Given the description of an element on the screen output the (x, y) to click on. 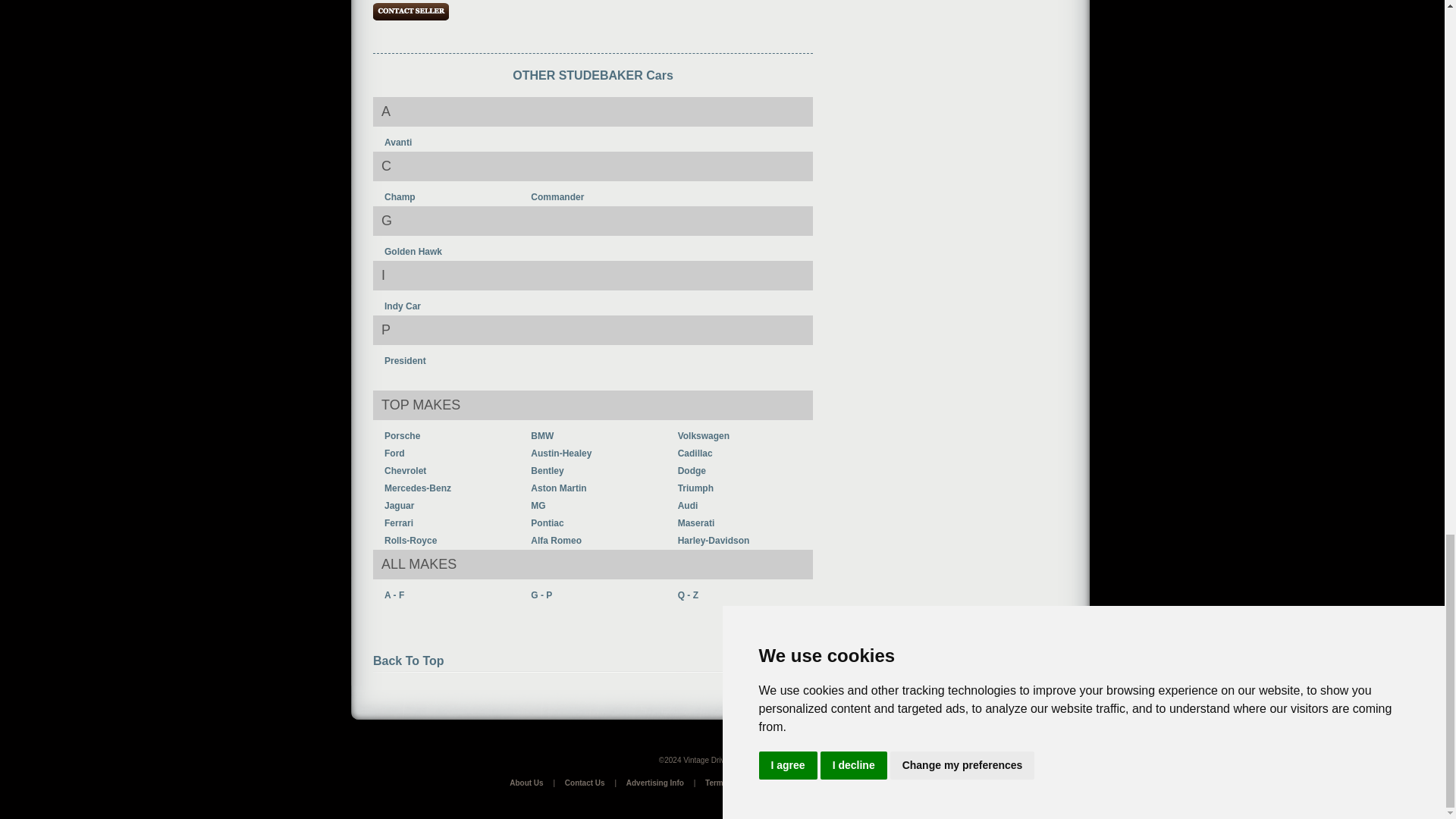
Porsche (402, 435)
Indy Car (402, 306)
Champ (399, 196)
Avanti (398, 142)
Commander (557, 196)
Chevrolet (405, 470)
Golden Hawk (413, 251)
President (405, 360)
Ford (394, 452)
